Given the description of an element on the screen output the (x, y) to click on. 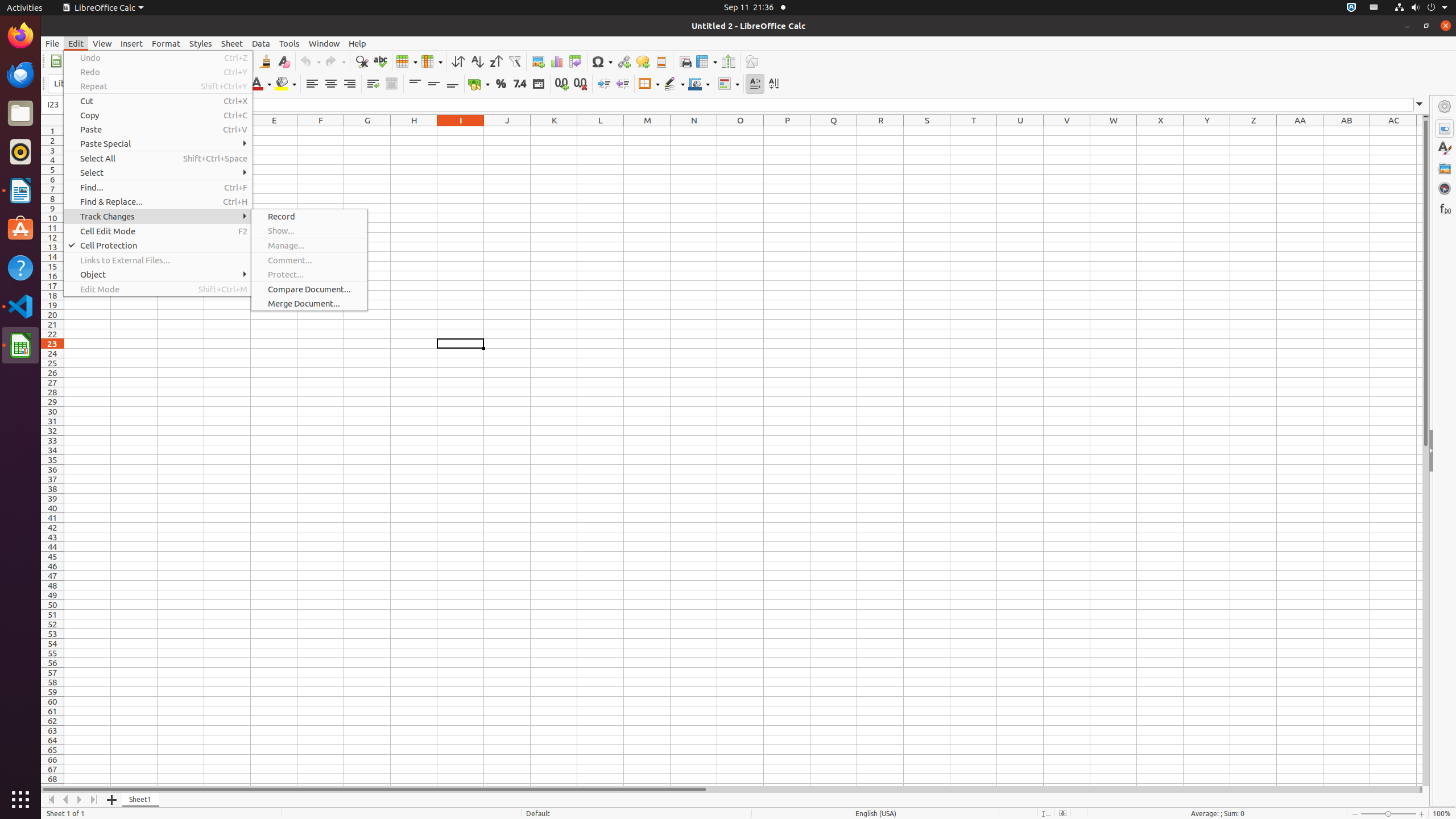
Window Element type: menu (324, 43)
Activities Element type: label (24, 7)
Track Changes Element type: menu (157, 216)
